Given the description of an element on the screen output the (x, y) to click on. 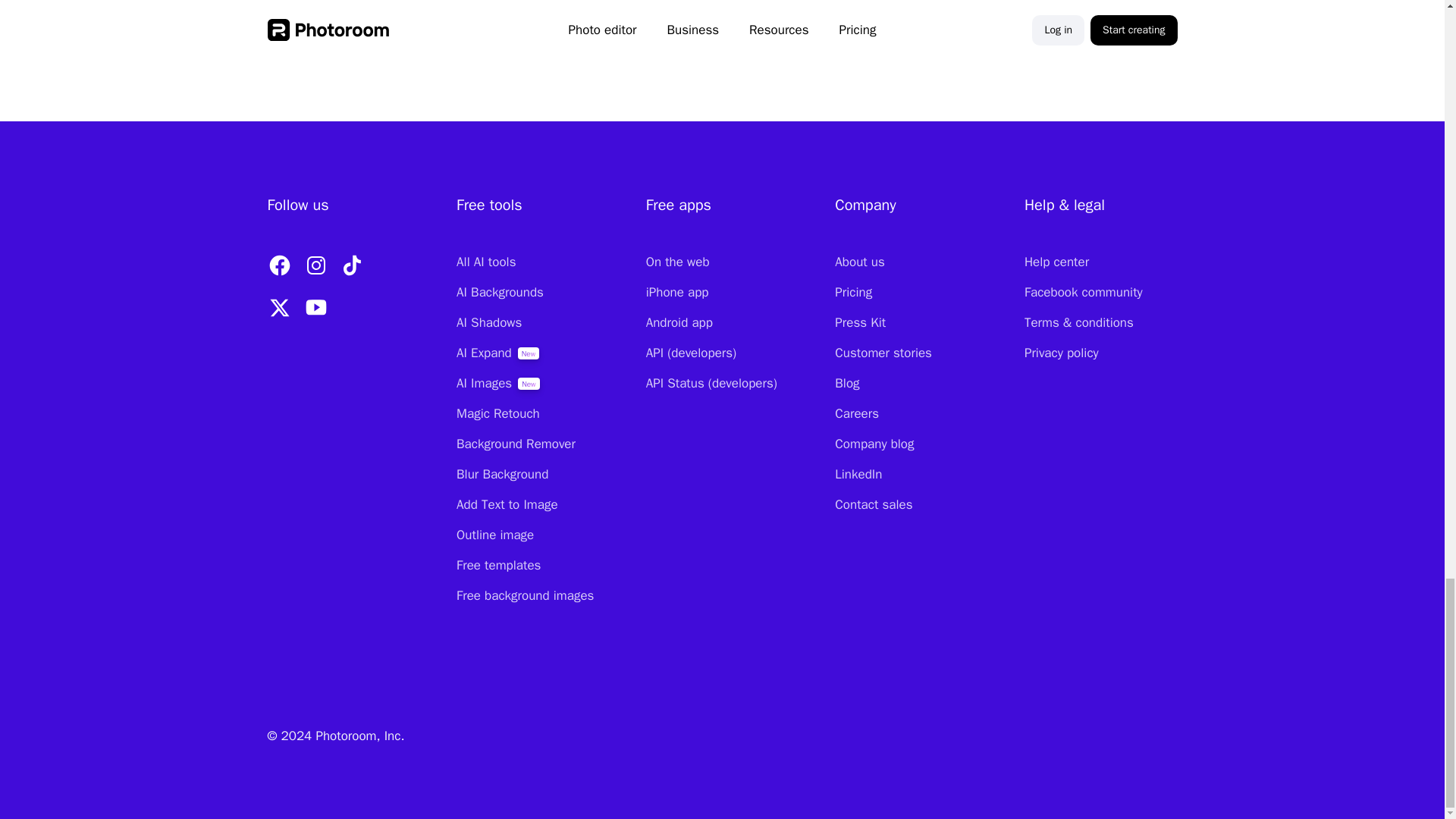
Instagram (315, 265)
Facebook (278, 265)
YouTube (315, 307)
X (278, 307)
TikTok (351, 265)
